Given the description of an element on the screen output the (x, y) to click on. 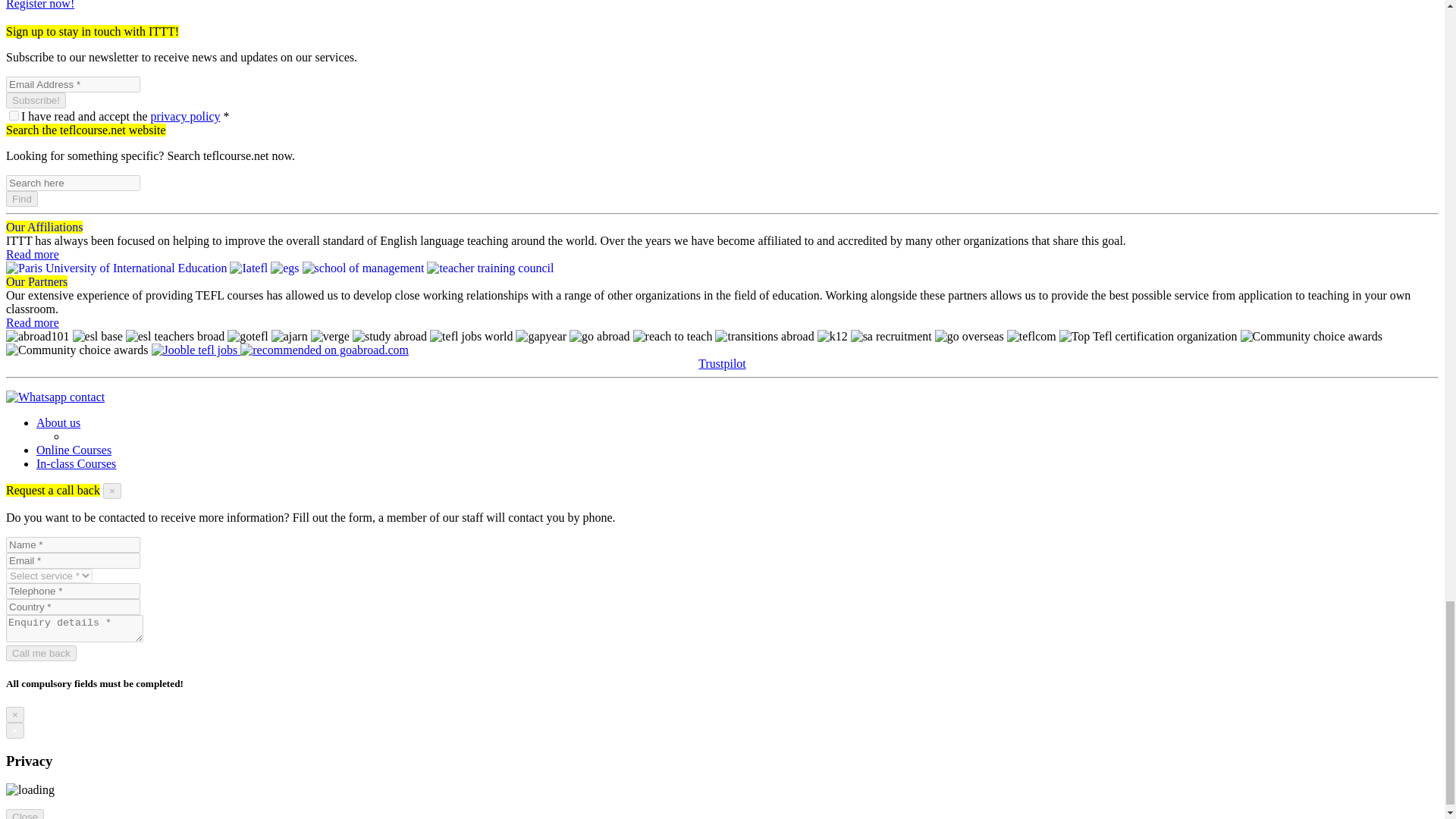
school of management (363, 268)
Paris University of International Education (116, 268)
teacher training council (489, 268)
Iatefl (248, 268)
1 (13, 115)
egs (284, 268)
